Given the description of an element on the screen output the (x, y) to click on. 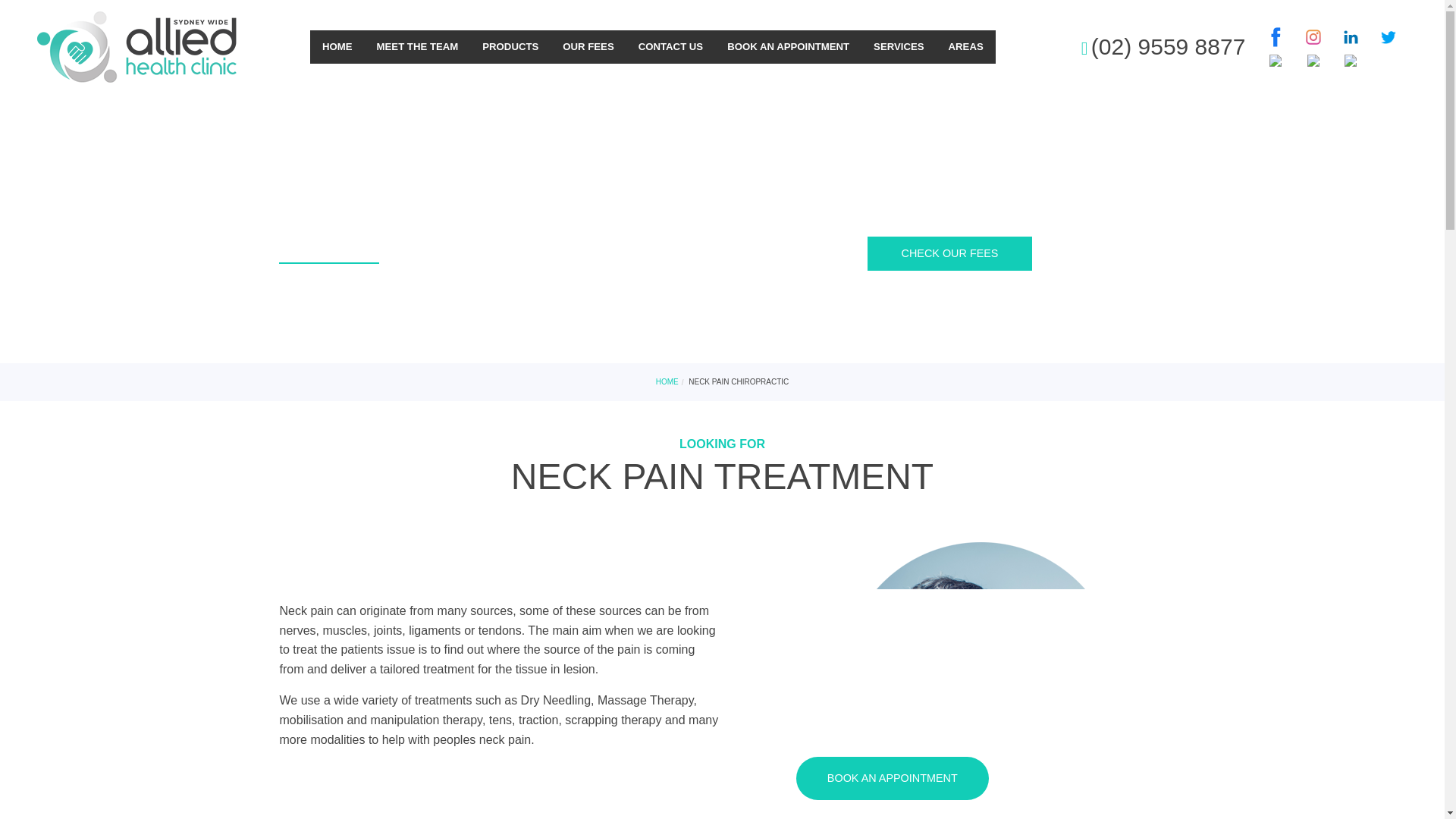
MEET THE TEAM (417, 47)
BOOK AN APPOINTMENT (787, 47)
AREAS (965, 47)
PRODUCTS (510, 47)
CONTACT US (670, 47)
OUR FEES (588, 47)
SERVICES (898, 47)
HOME (337, 47)
